Given the description of an element on the screen output the (x, y) to click on. 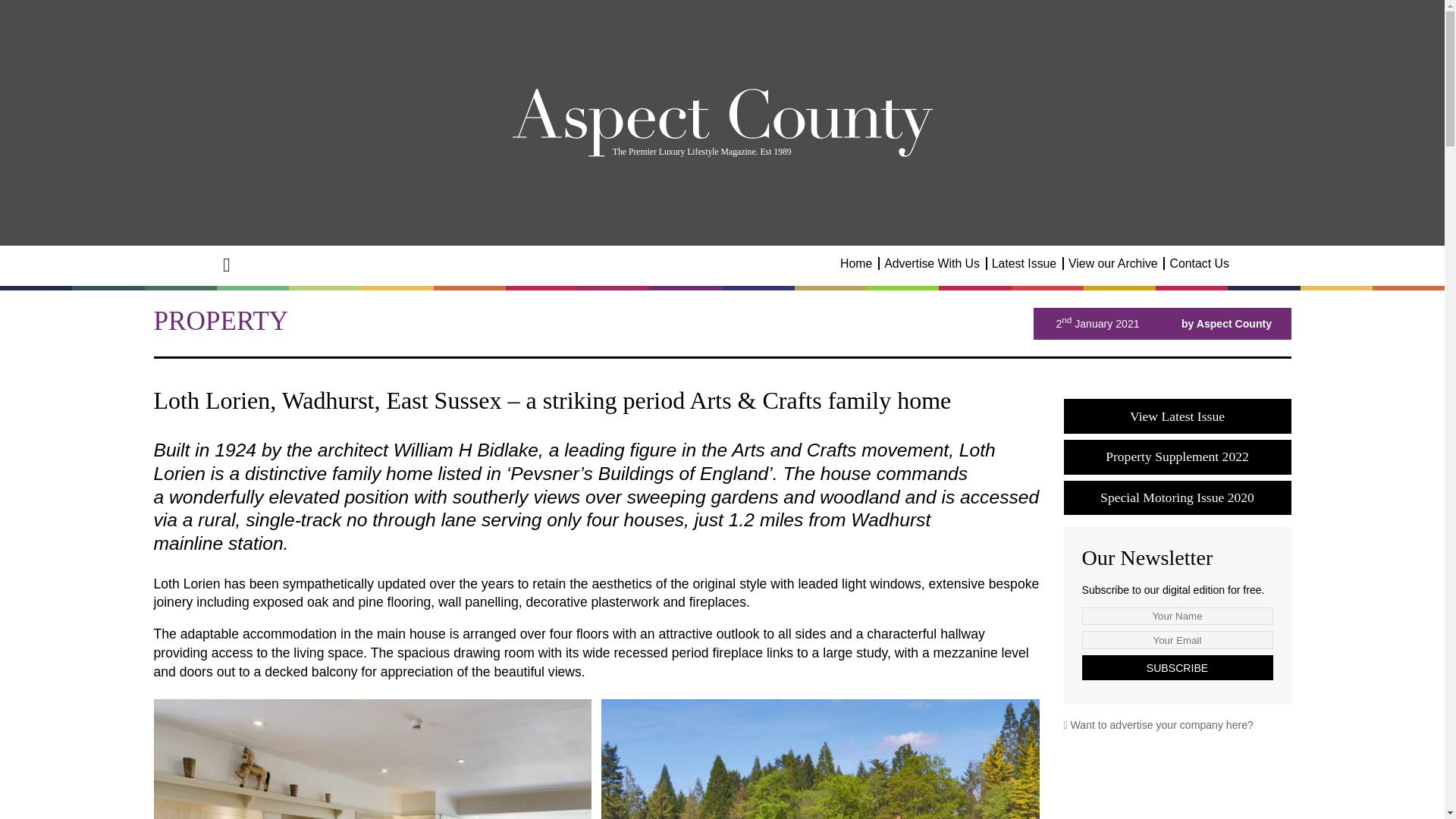
Contact Us (1199, 263)
Latest Issue (1024, 263)
Advertise With Us (931, 263)
Open menu (226, 264)
View our Archive (1112, 263)
Home (856, 263)
by Aspect County (1225, 323)
